Given the description of an element on the screen output the (x, y) to click on. 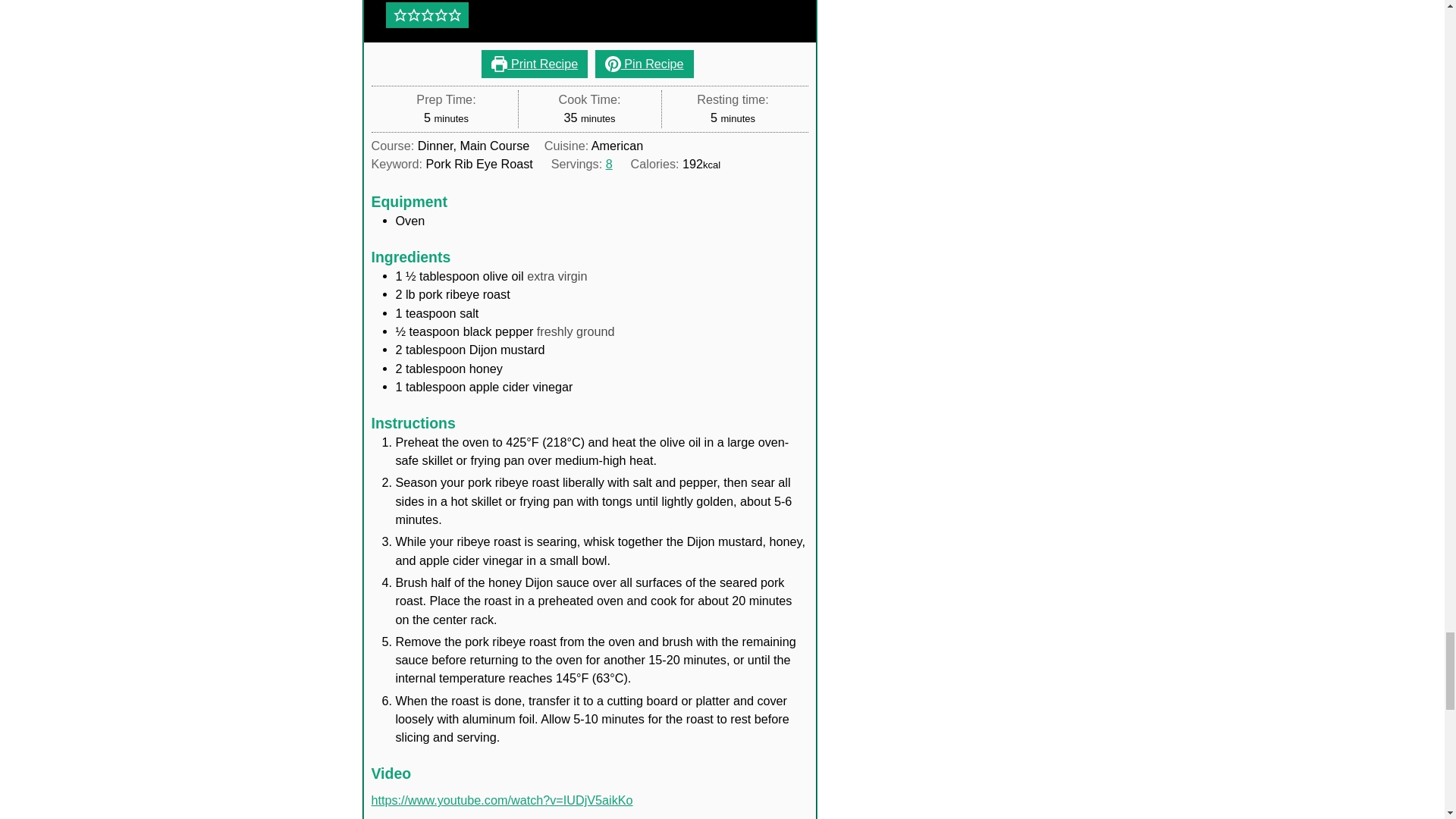
Print Recipe (534, 62)
Pin Recipe (644, 62)
